Given the description of an element on the screen output the (x, y) to click on. 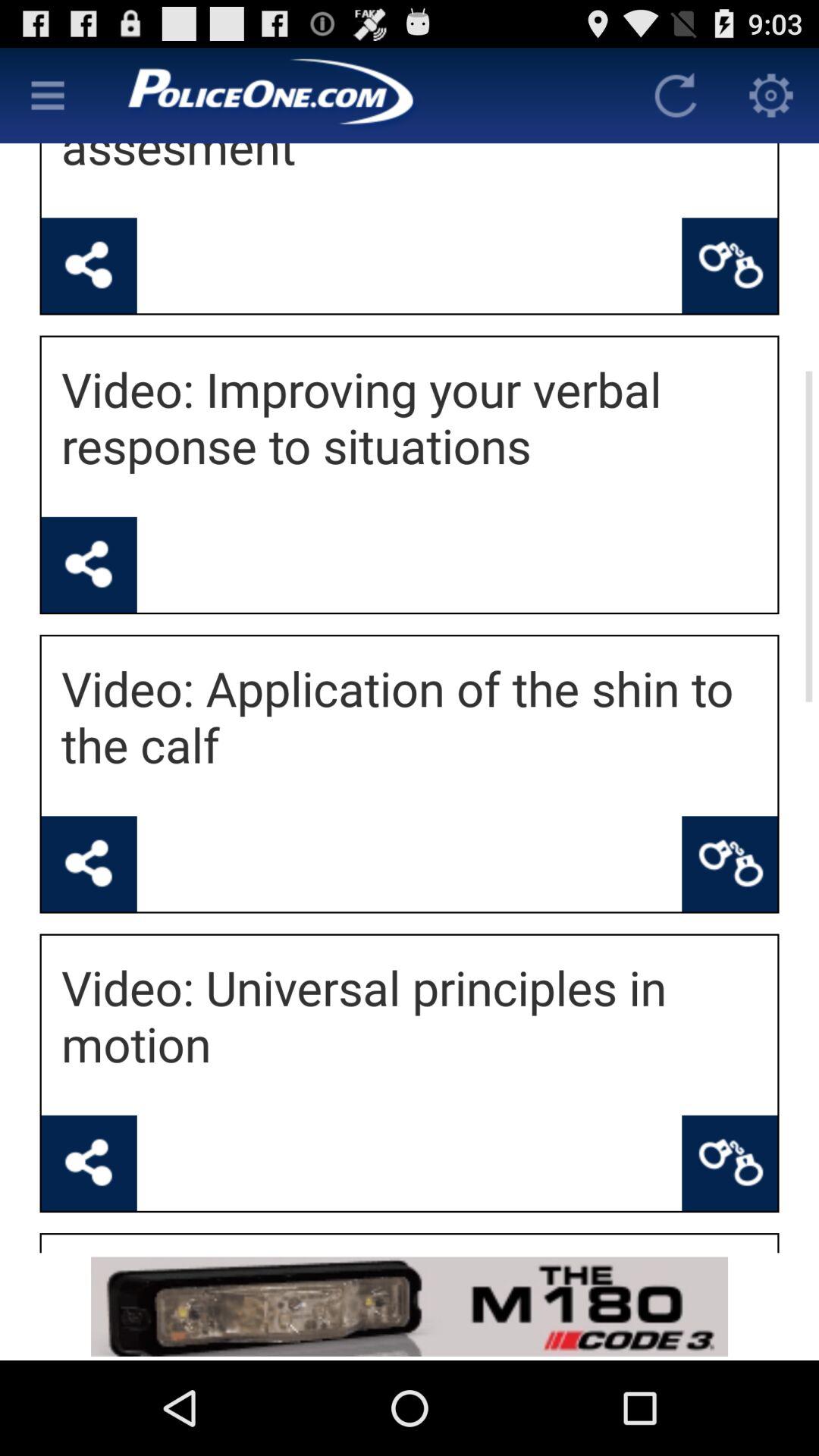
go to home page (361, 95)
